Given the description of an element on the screen output the (x, y) to click on. 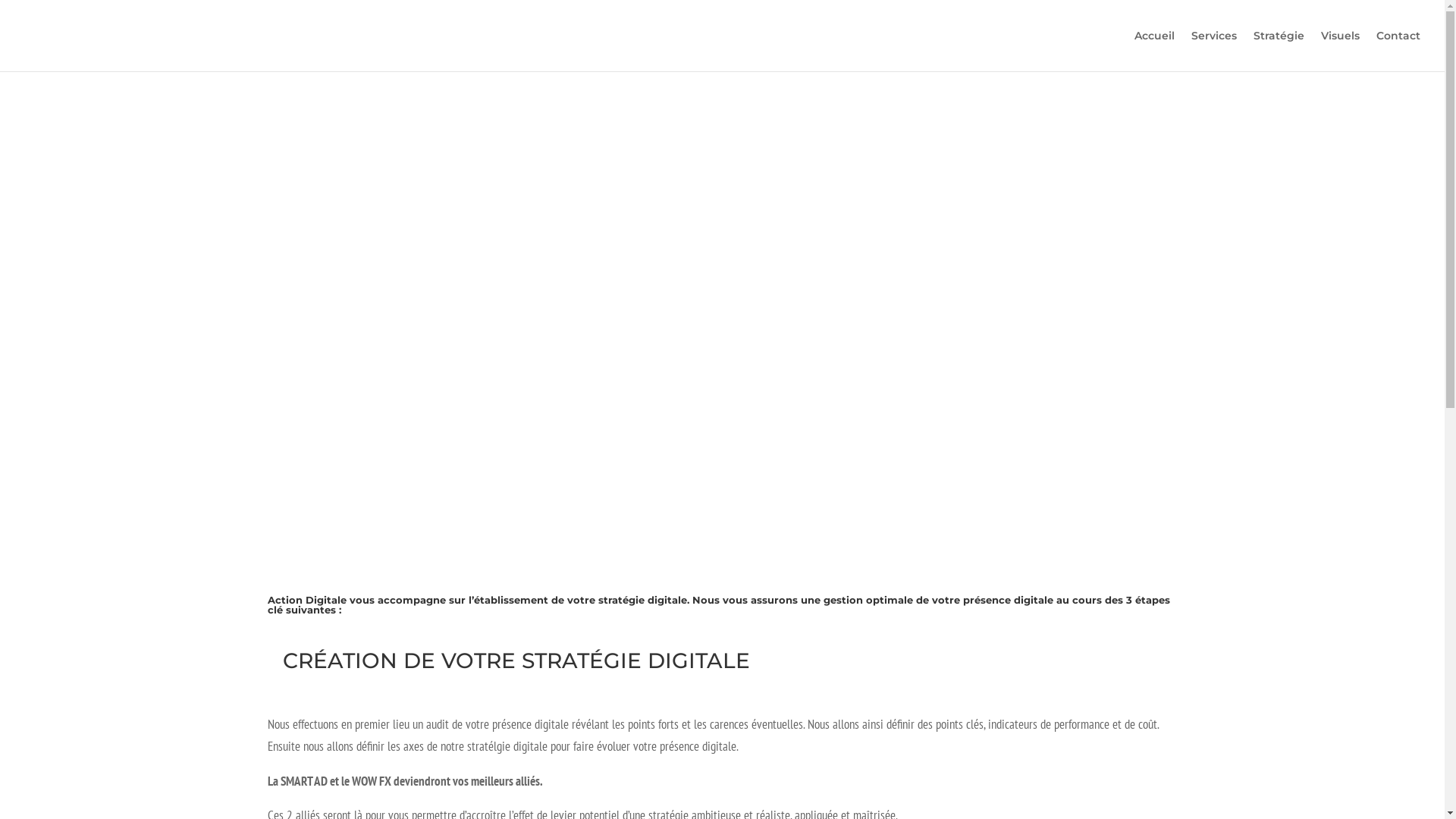
Contact Element type: text (1398, 50)
Services Element type: text (1213, 50)
Visuels Element type: text (1340, 50)
Accueil Element type: text (1154, 50)
